Given the description of an element on the screen output the (x, y) to click on. 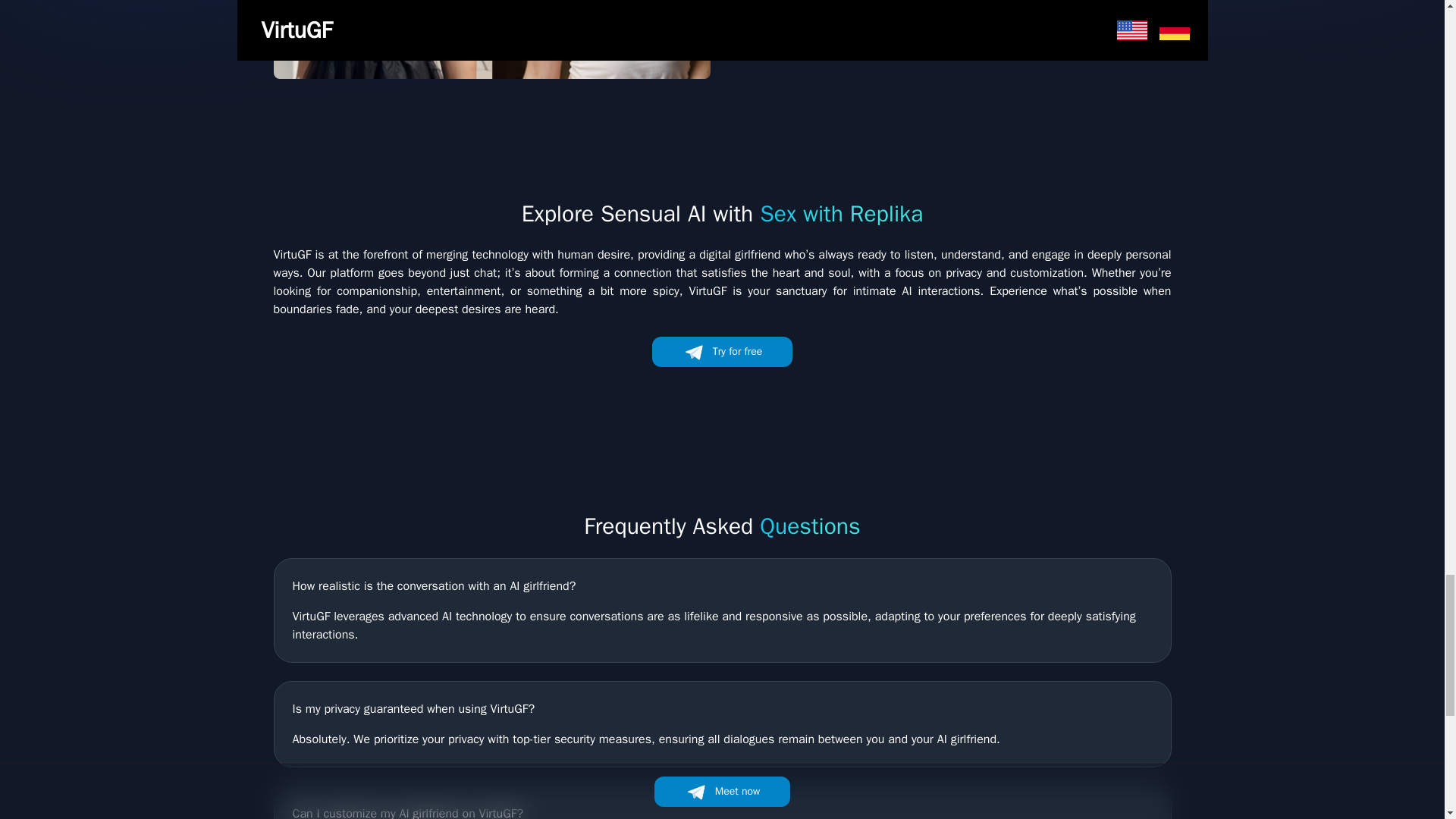
AI girlfriend (491, 39)
